Given the description of an element on the screen output the (x, y) to click on. 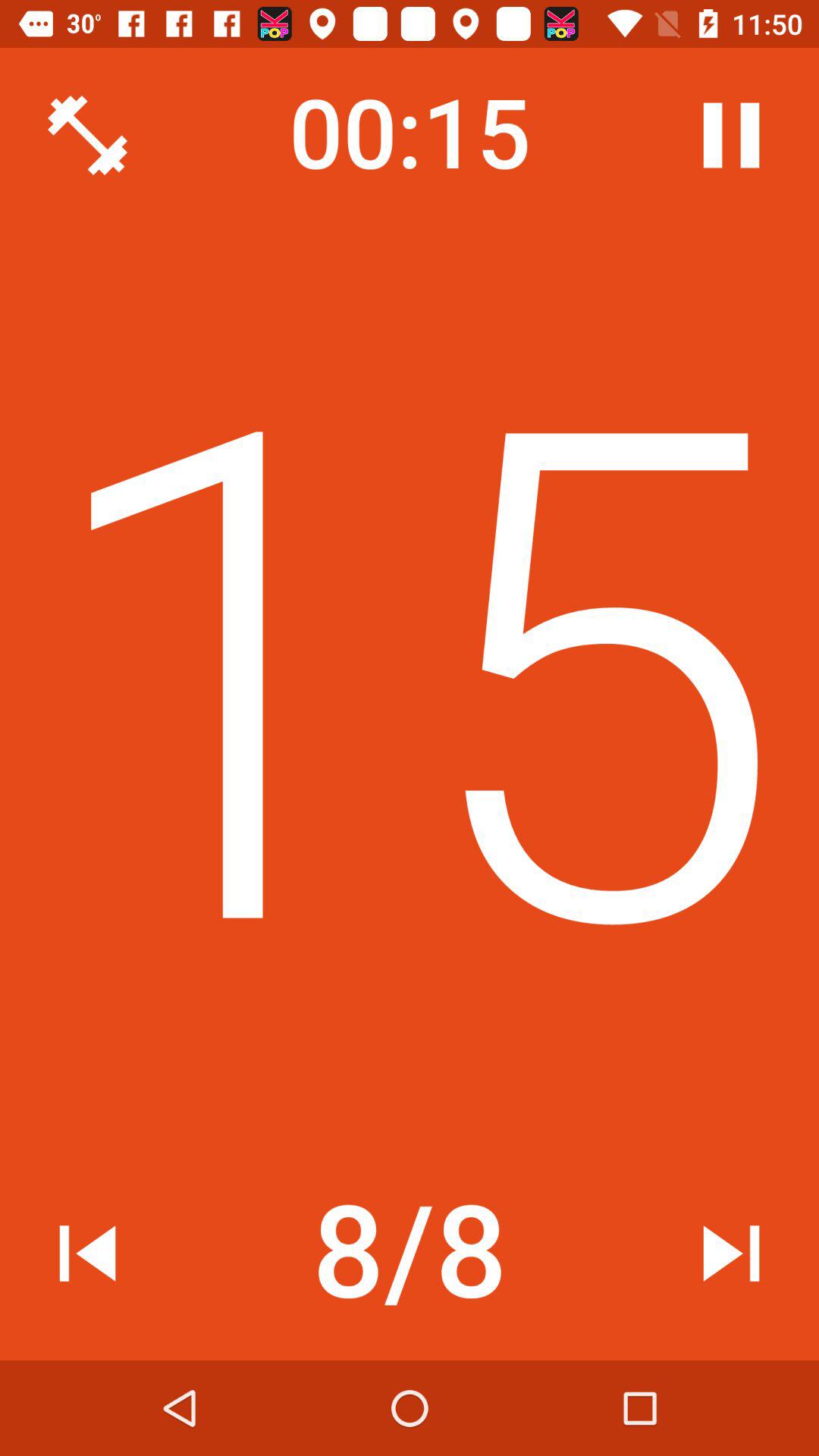
press the item above 14 icon (731, 135)
